Given the description of an element on the screen output the (x, y) to click on. 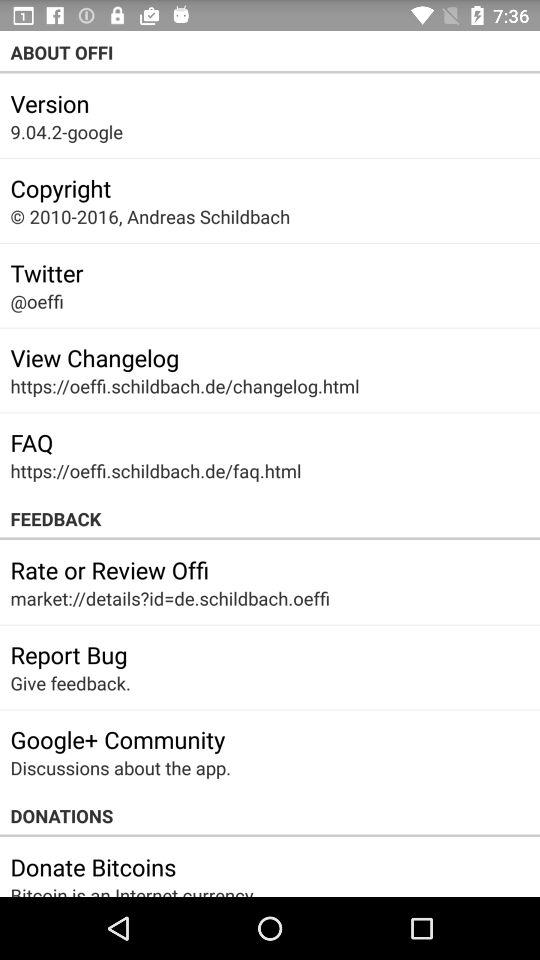
turn off icon above https oeffi schildbach (94, 357)
